Given the description of an element on the screen output the (x, y) to click on. 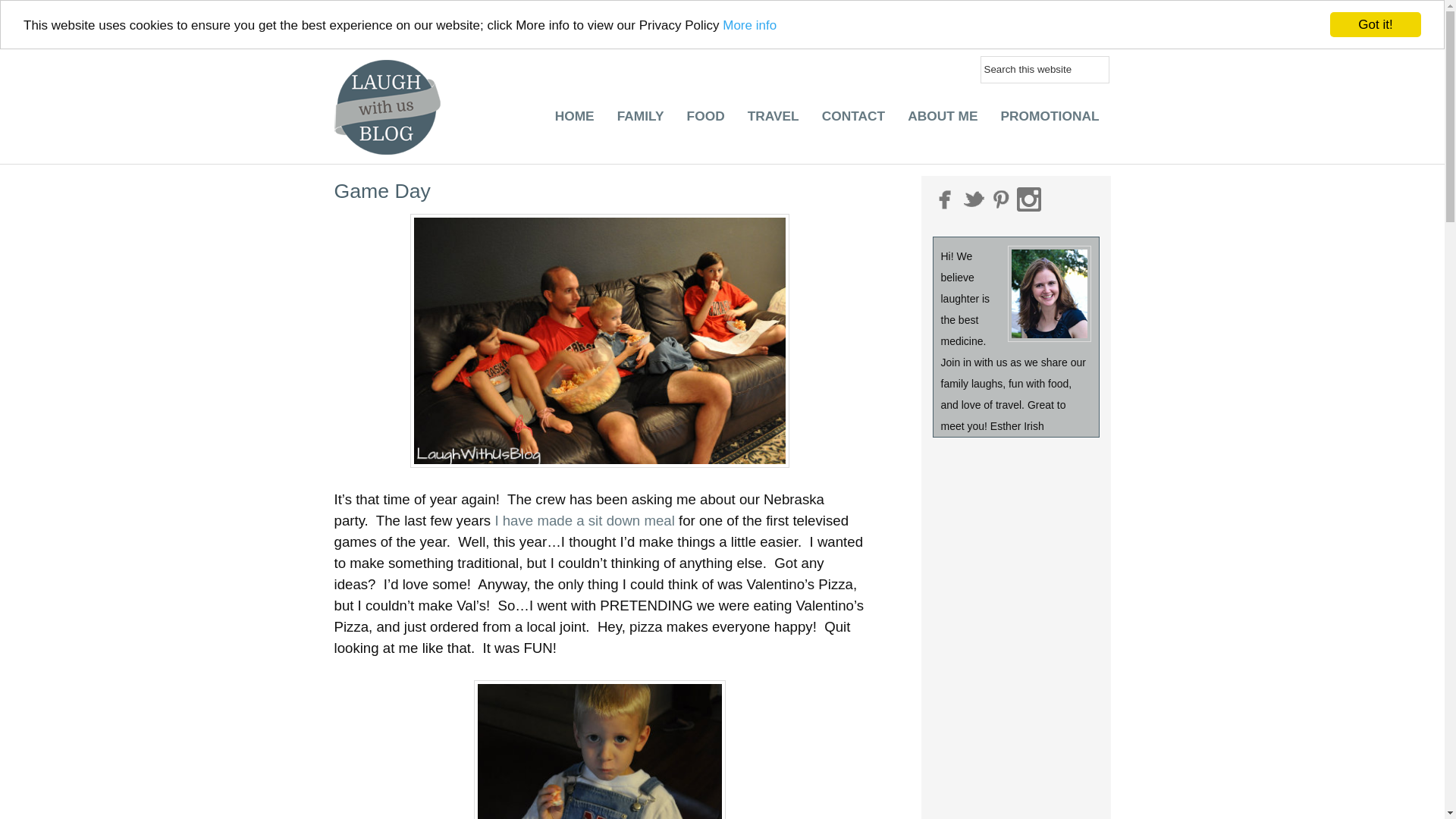
FOOD (705, 119)
Laugh With Us Blog (389, 87)
PROMOTIONAL (1050, 119)
HOME (574, 109)
ABOUT ME (942, 119)
Husker GameDay (599, 340)
Game Day Popcorn (599, 749)
CONTACT (853, 119)
TRAVEL (773, 119)
FAMILY (640, 114)
